Given the description of an element on the screen output the (x, y) to click on. 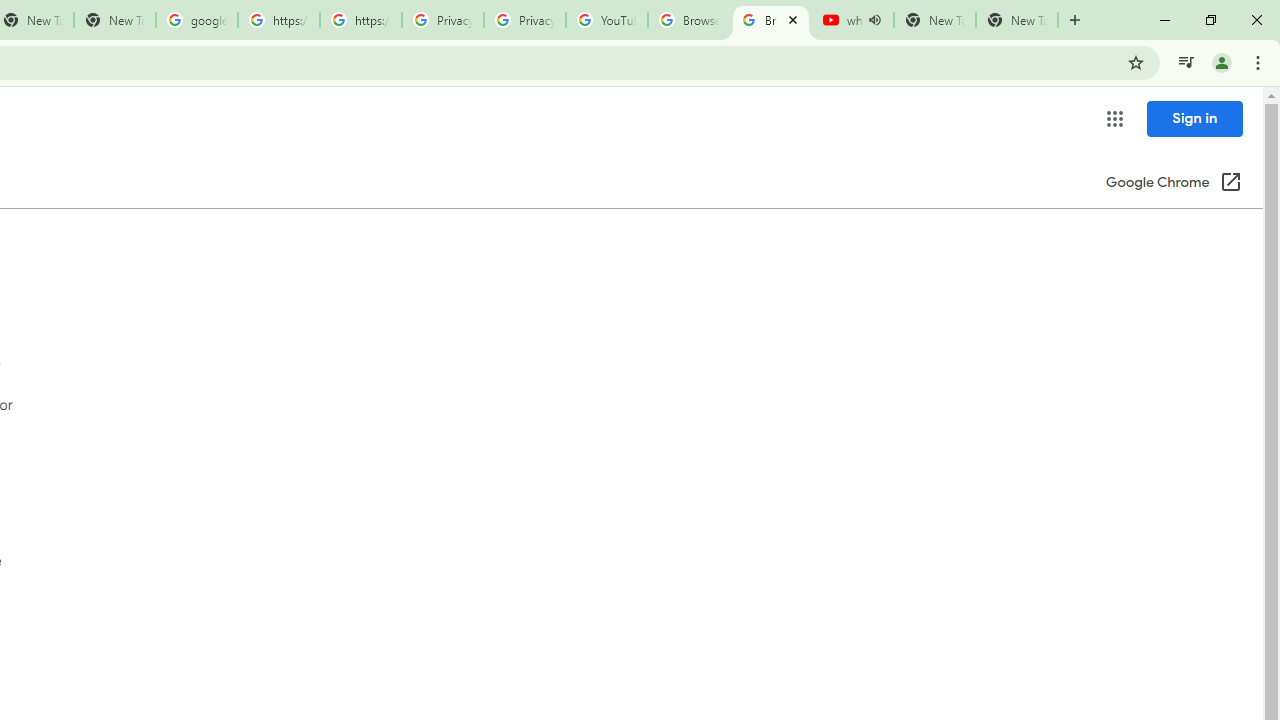
New Tab (1016, 20)
YouTube (606, 20)
